Given the description of an element on the screen output the (x, y) to click on. 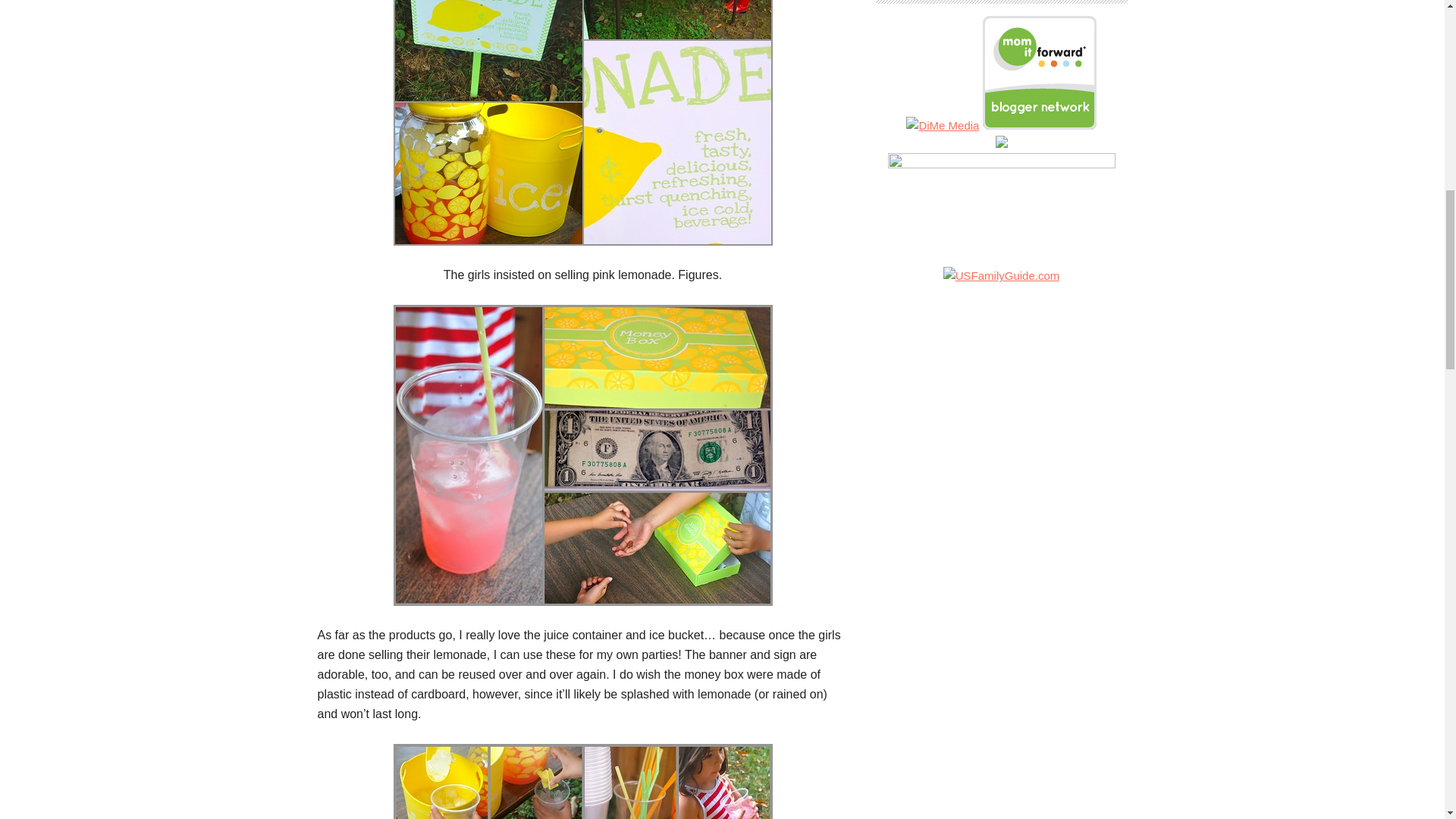
Lemonade stand collage 2 by MrsMarianaP, on Flickr (582, 122)
I Have Massive Sway (1000, 164)
Lemonade stand collage 3 by MrsMarianaP, on Flickr (582, 781)
